Given the description of an element on the screen output the (x, y) to click on. 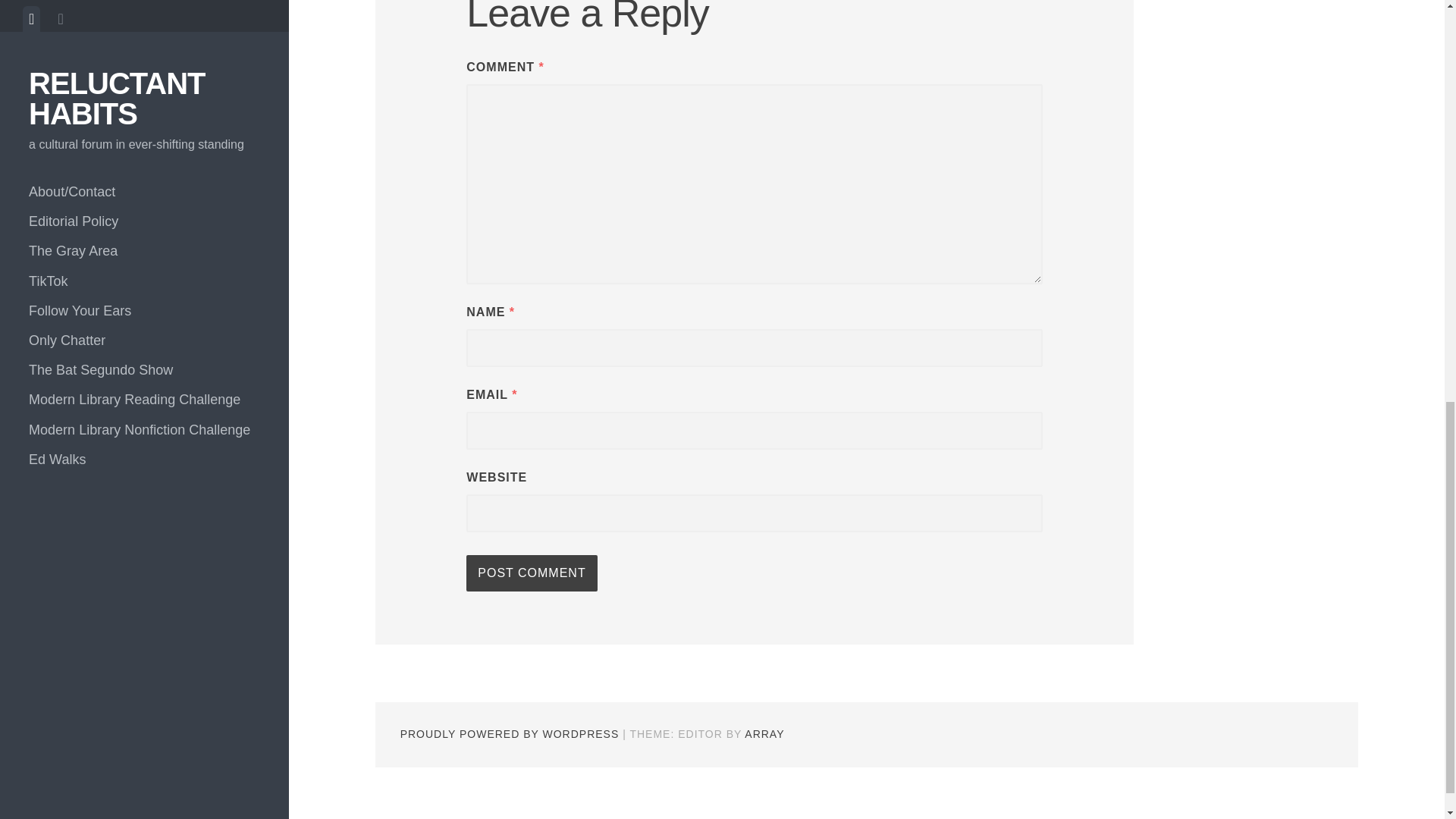
Post Comment (530, 573)
